Given the description of an element on the screen output the (x, y) to click on. 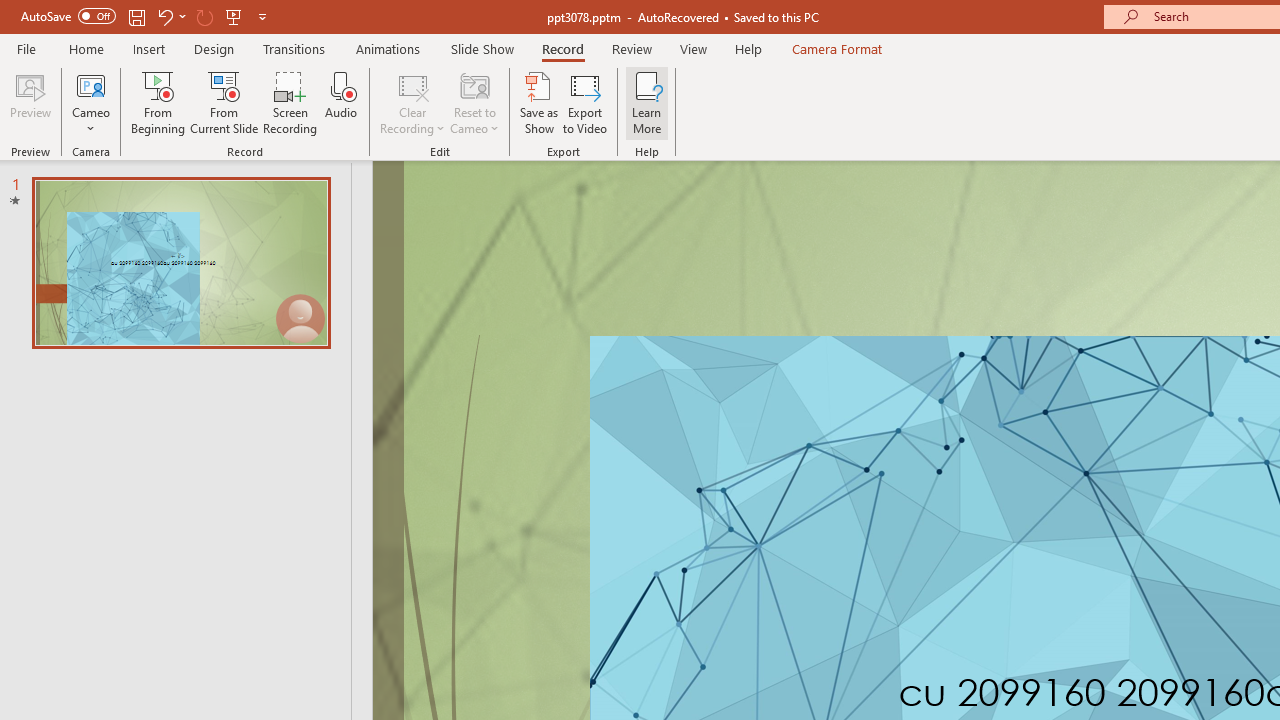
Clear Recording (412, 102)
Camera Format (836, 48)
Screen Recording (290, 102)
Export to Video (585, 102)
Reset to Cameo (474, 102)
